Given the description of an element on the screen output the (x, y) to click on. 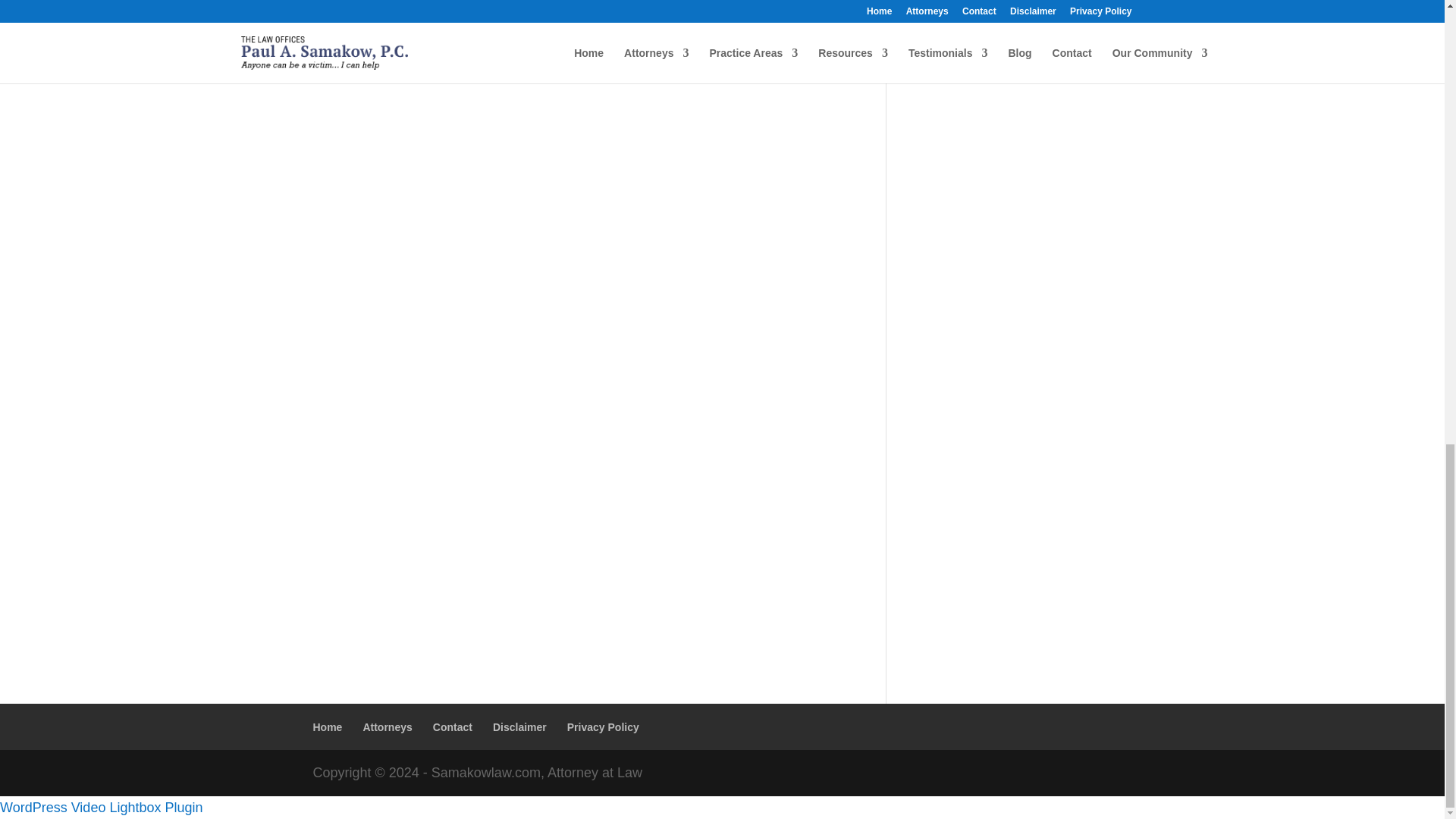
WordPress Video Lightbox Plugin (101, 807)
